Given the description of an element on the screen output the (x, y) to click on. 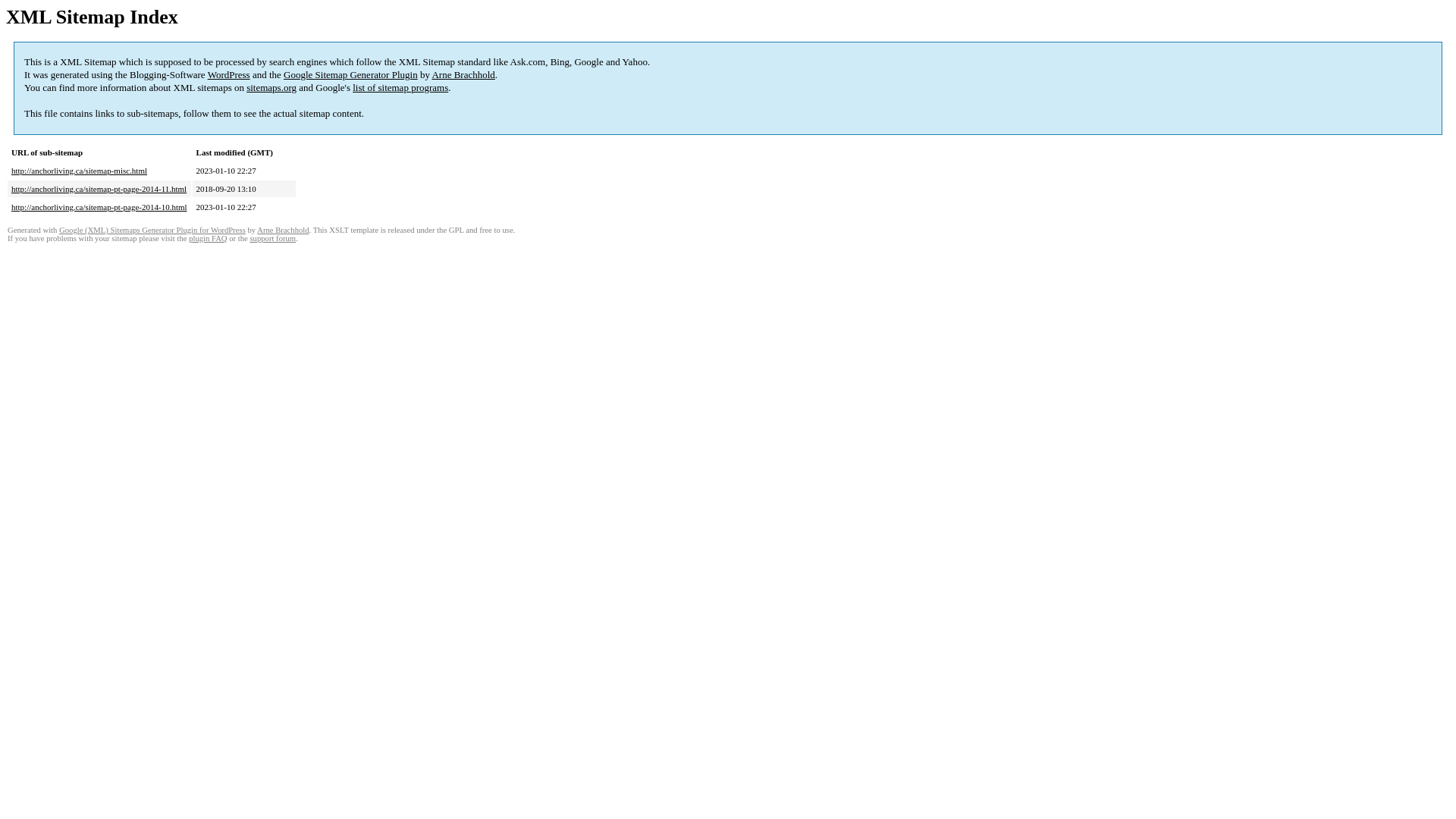
Google Sitemap Generator Plugin Element type: text (350, 74)
WordPress Element type: text (228, 74)
http://anchorliving.ca/sitemap-pt-page-2014-10.html Element type: text (99, 206)
sitemaps.org Element type: text (271, 87)
Google (XML) Sitemaps Generator Plugin for WordPress Element type: text (152, 229)
http://anchorliving.ca/sitemap-pt-page-2014-11.html Element type: text (98, 188)
list of sitemap programs Element type: text (400, 87)
Arne Brachhold Element type: text (462, 74)
http://anchorliving.ca/sitemap-misc.html Element type: text (79, 170)
support forum Element type: text (272, 238)
plugin FAQ Element type: text (207, 238)
Arne Brachhold Element type: text (282, 229)
